Given the description of an element on the screen output the (x, y) to click on. 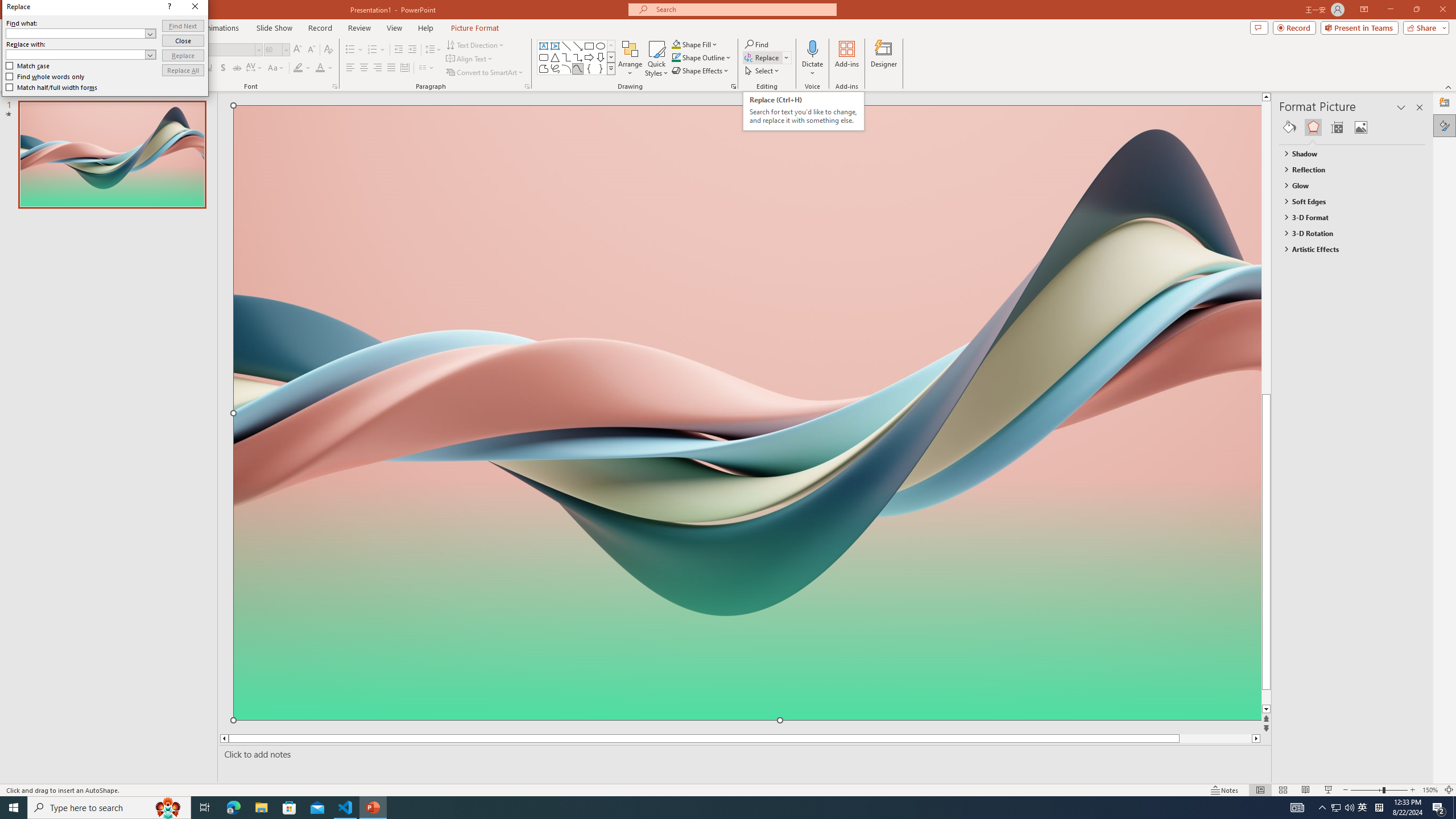
Line down (1287, 709)
Font Color (324, 67)
Search highlights icon opens search home window (167, 807)
Reflection (1347, 169)
Freeform: Scribble (554, 68)
Zoom to Fit  (1449, 790)
Paragraph... (526, 85)
Line up (1287, 96)
Zoom In (1412, 790)
Select (762, 69)
Connector: Elbow (566, 57)
Distributed (404, 67)
Zoom 150% (1430, 790)
Center (363, 67)
